Given the description of an element on the screen output the (x, y) to click on. 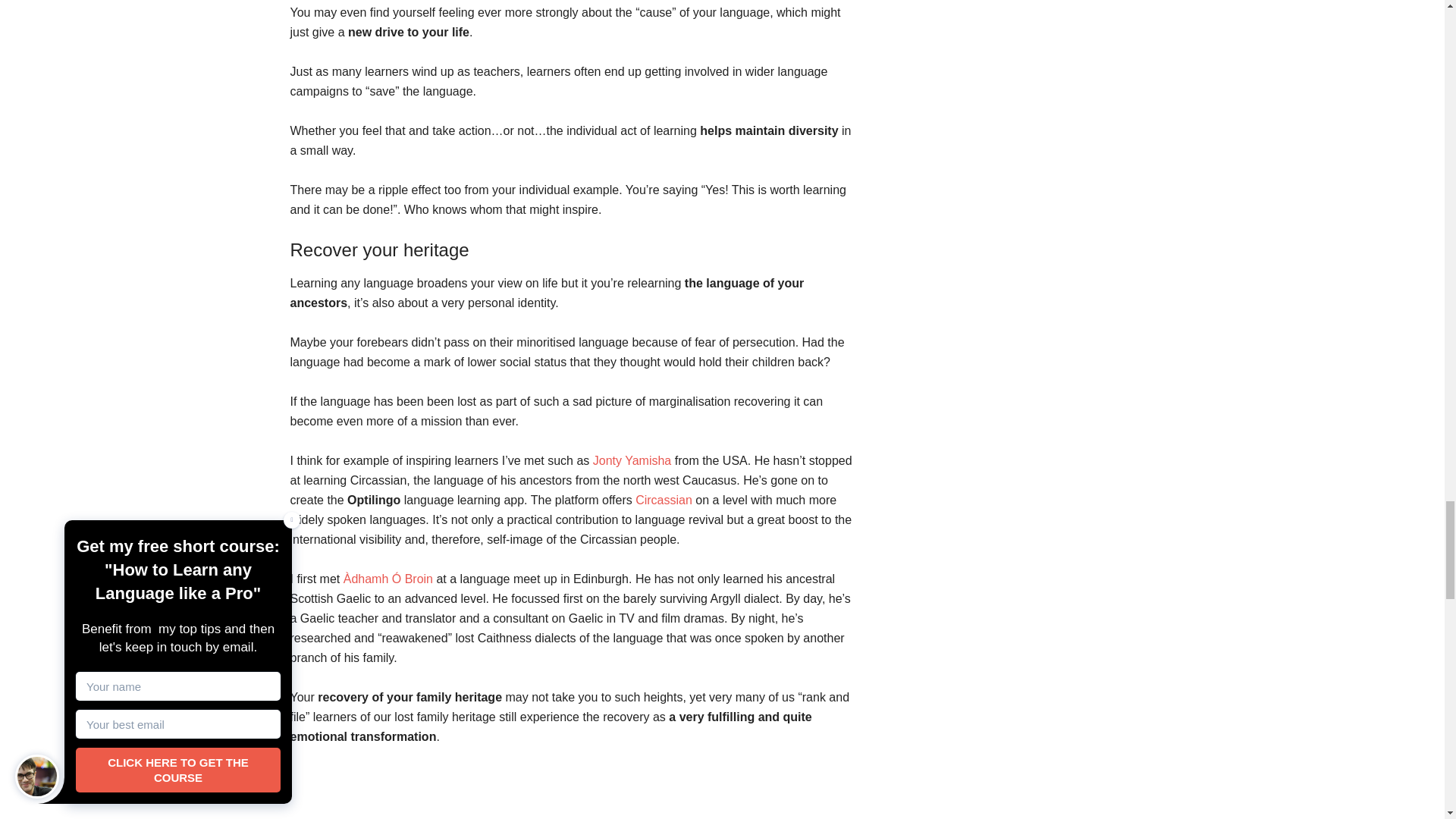
Jonty Yamisha (631, 460)
Circassian (663, 499)
